Given the description of an element on the screen output the (x, y) to click on. 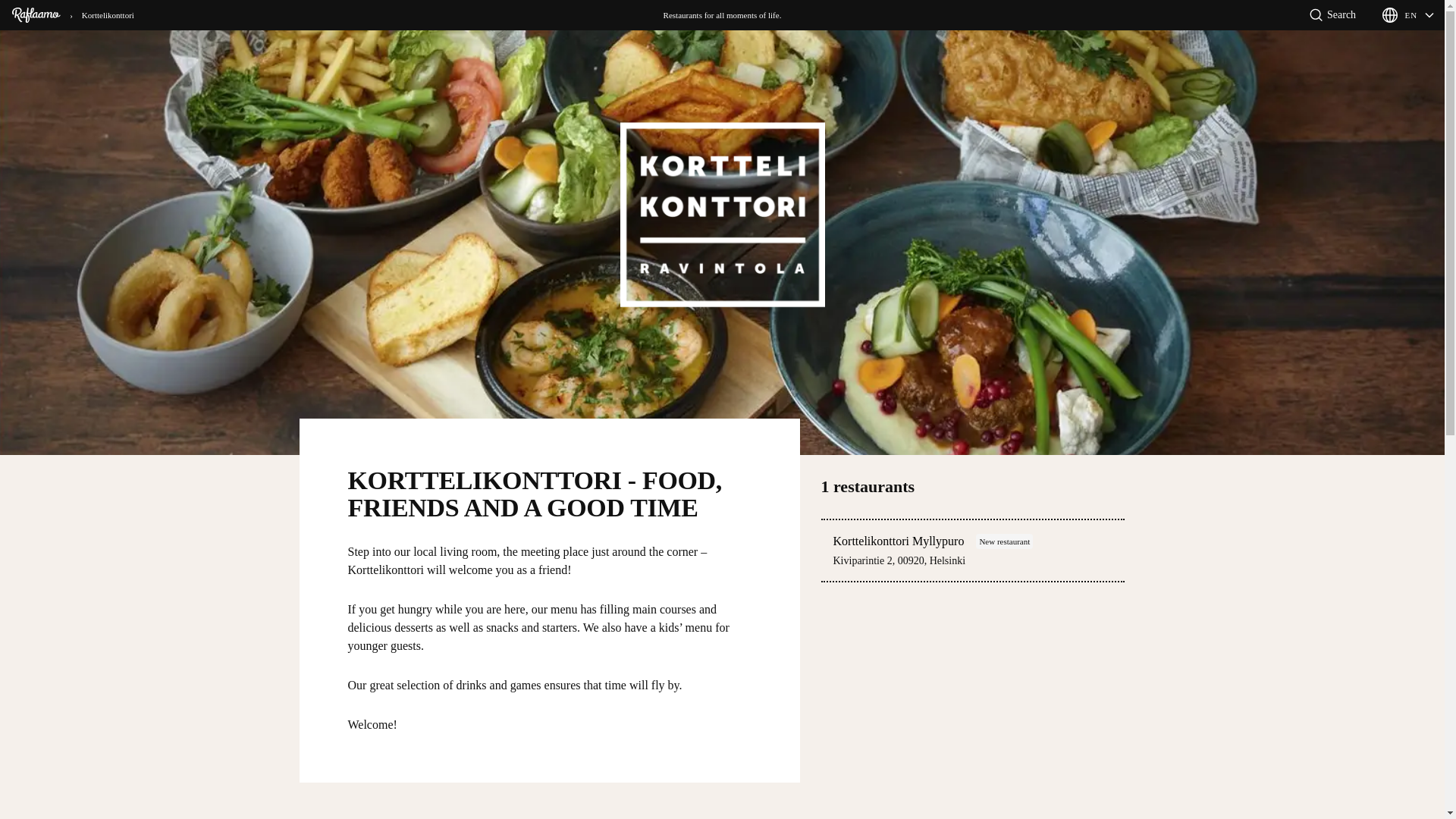
EN (1407, 14)
Korttelikonttori Myllypuro (897, 541)
Search (1331, 15)
